Given the description of an element on the screen output the (x, y) to click on. 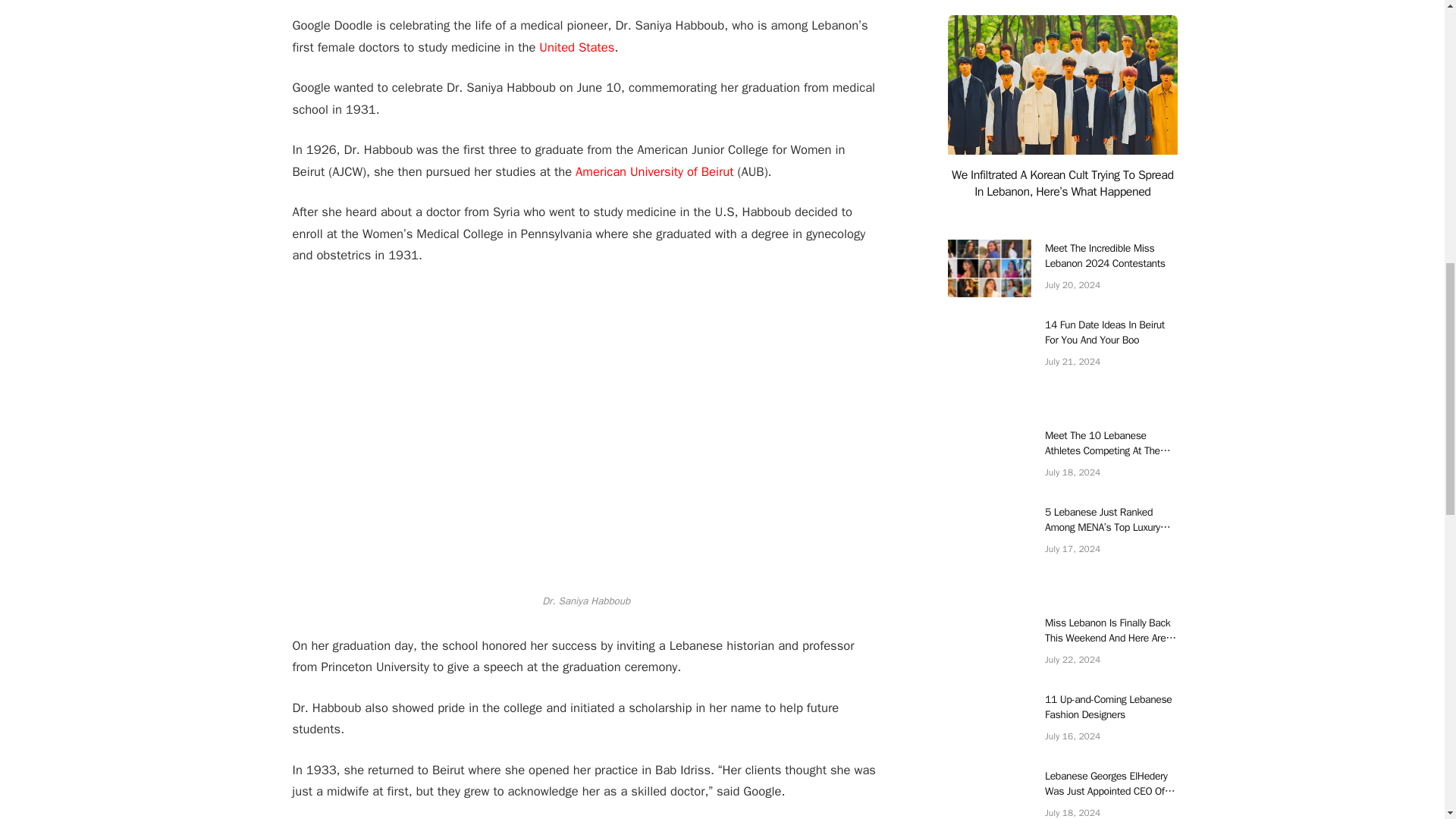
United States (576, 47)
American University of Beirut (655, 171)
